Given the description of an element on the screen output the (x, y) to click on. 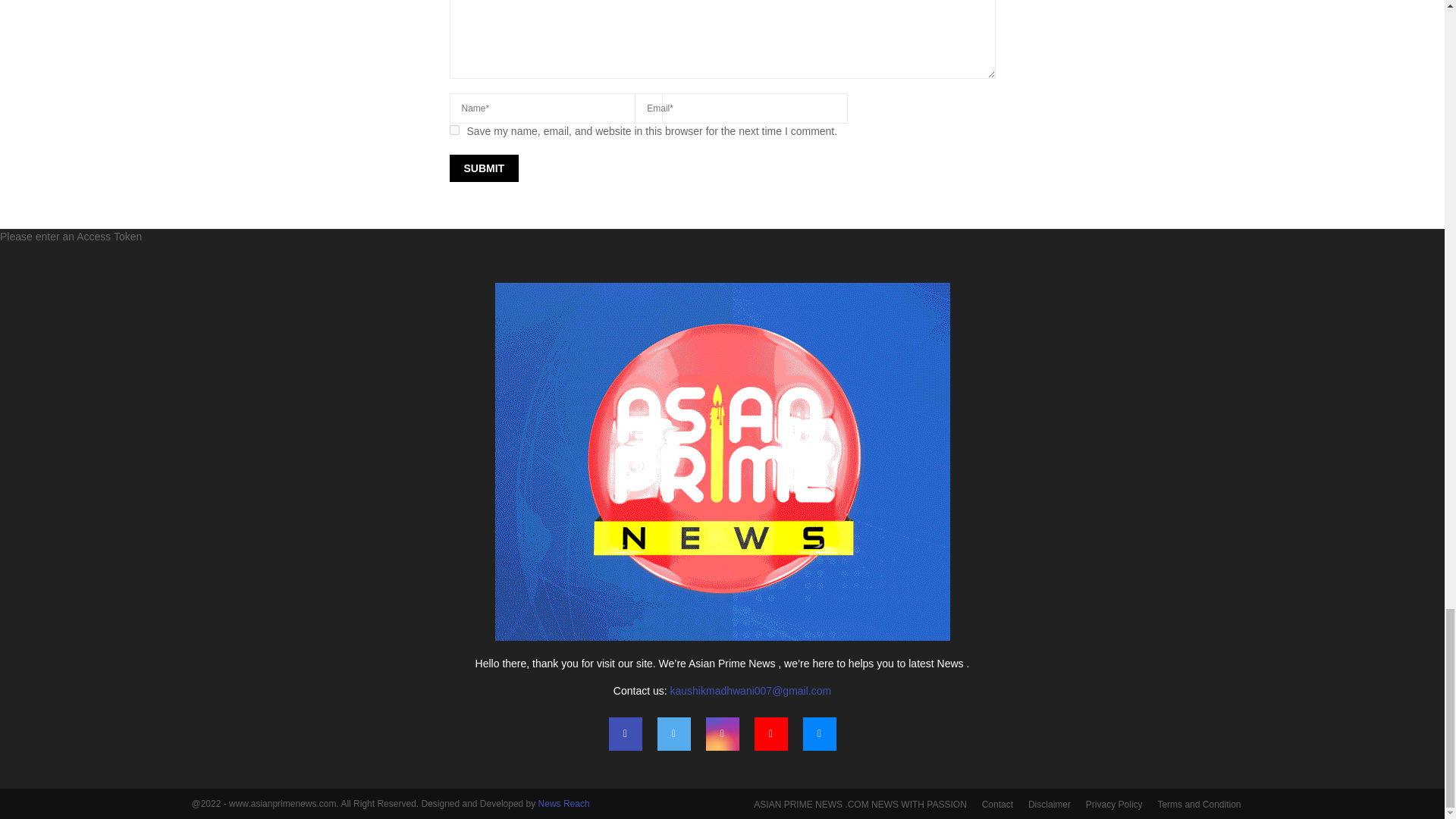
yes (453, 130)
Submit (483, 167)
